Given the description of an element on the screen output the (x, y) to click on. 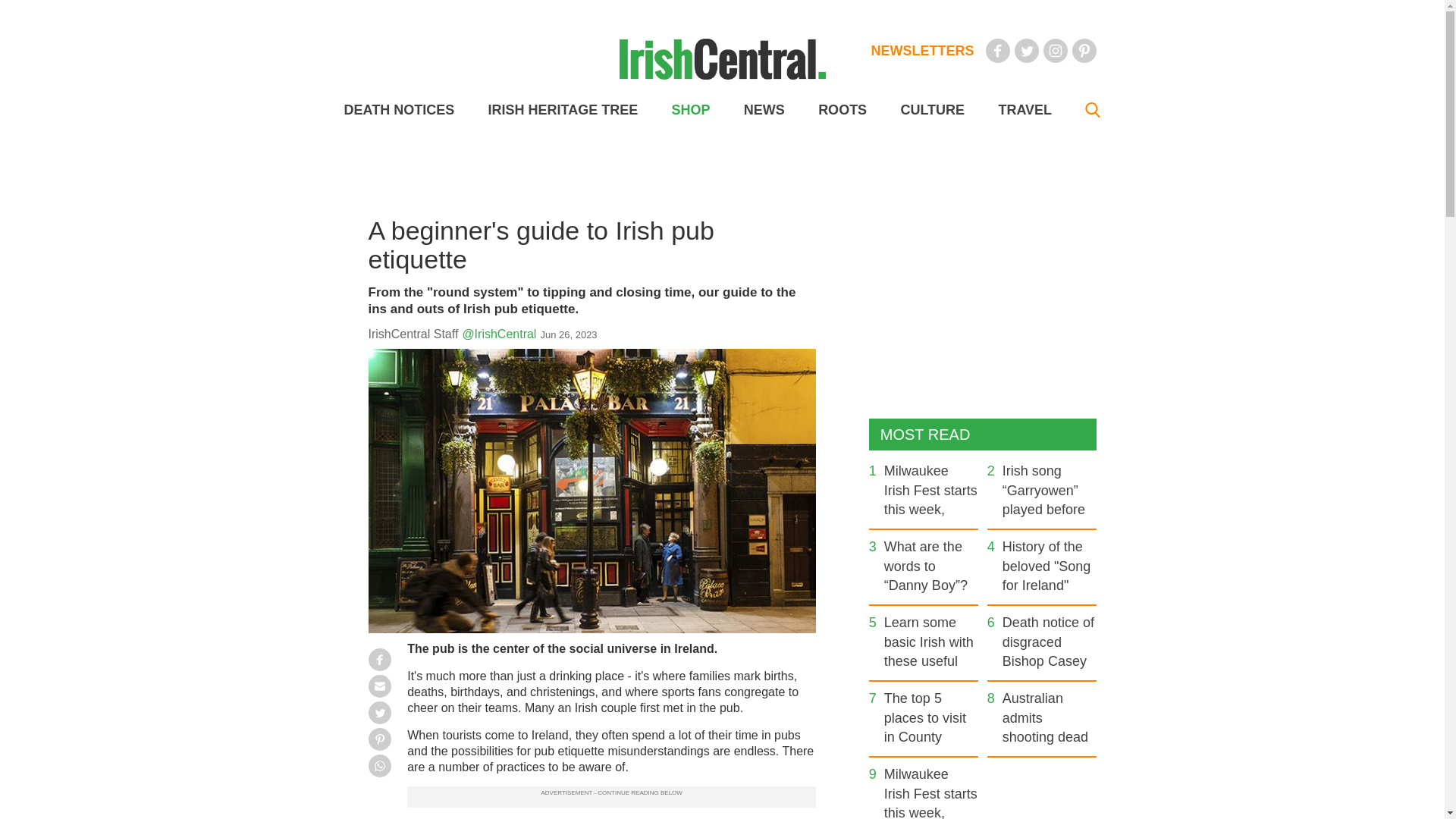
CULTURE (931, 109)
ROOTS (842, 109)
SHOP (690, 109)
NEWSLETTERS (922, 50)
DEATH NOTICES (398, 109)
IRISH HERITAGE TREE (562, 109)
TRAVEL (1024, 109)
NEWS (764, 109)
